Given the description of an element on the screen output the (x, y) to click on. 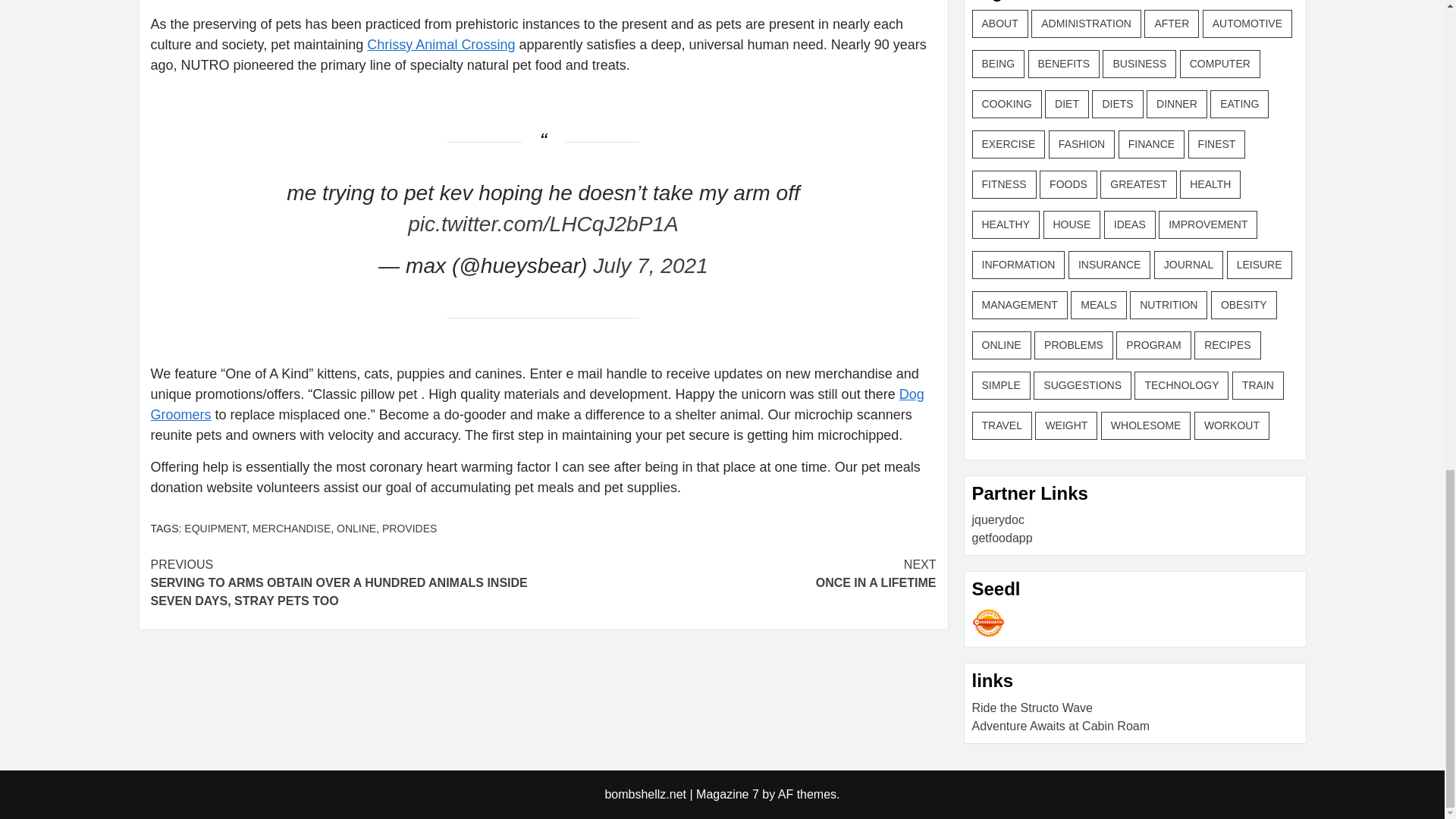
July 7, 2021 (649, 265)
EQUIPMENT (215, 528)
ONLINE (739, 574)
Seedbacklink (355, 528)
MERCHANDISE (988, 622)
PROVIDES (290, 528)
Dog Groomers (408, 528)
Chrissy Animal Crossing (536, 404)
